Given the description of an element on the screen output the (x, y) to click on. 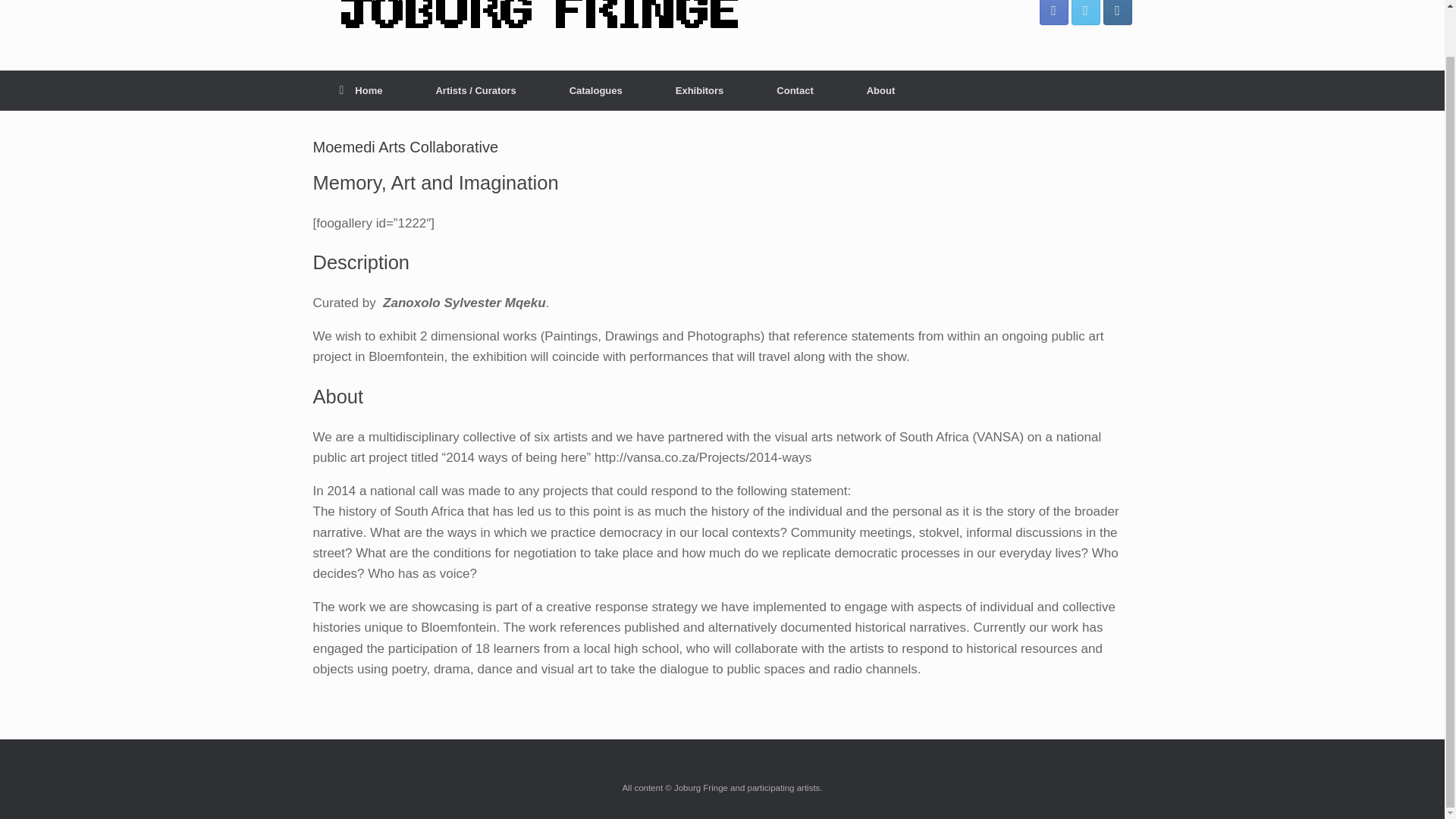
Joburg Fringe (540, 18)
Home (361, 90)
Catalogues (596, 90)
About (880, 90)
Joburg Fringe Instagram (1116, 12)
Contact (794, 90)
Joburg Fringe Twitter (1084, 12)
Exhibitors (700, 90)
Joburg Fringe Facebook (1053, 12)
